Given the description of an element on the screen output the (x, y) to click on. 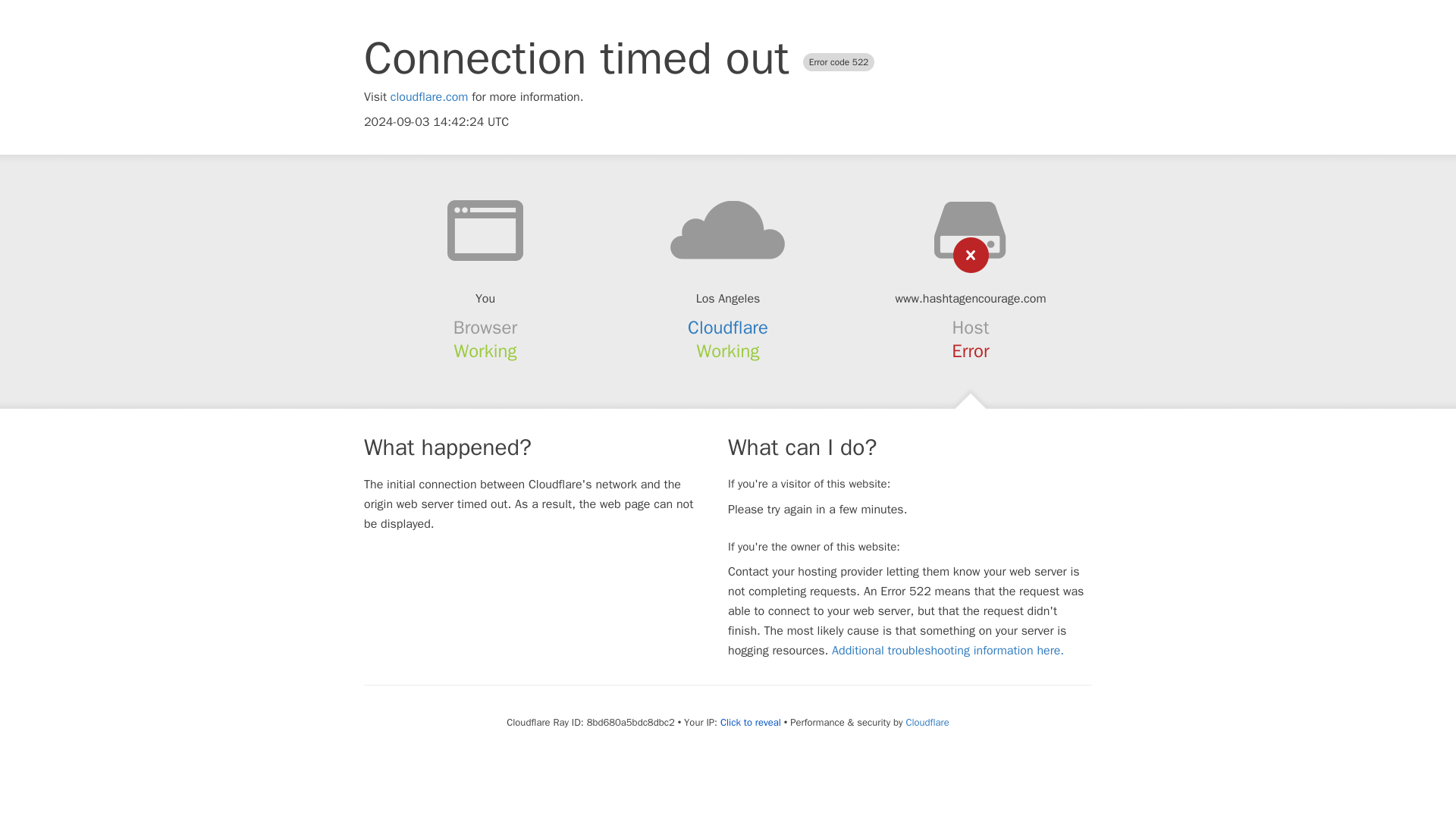
Cloudflare (727, 327)
cloudflare.com (429, 96)
Cloudflare (927, 721)
Click to reveal (750, 722)
Additional troubleshooting information here. (947, 650)
